Given the description of an element on the screen output the (x, y) to click on. 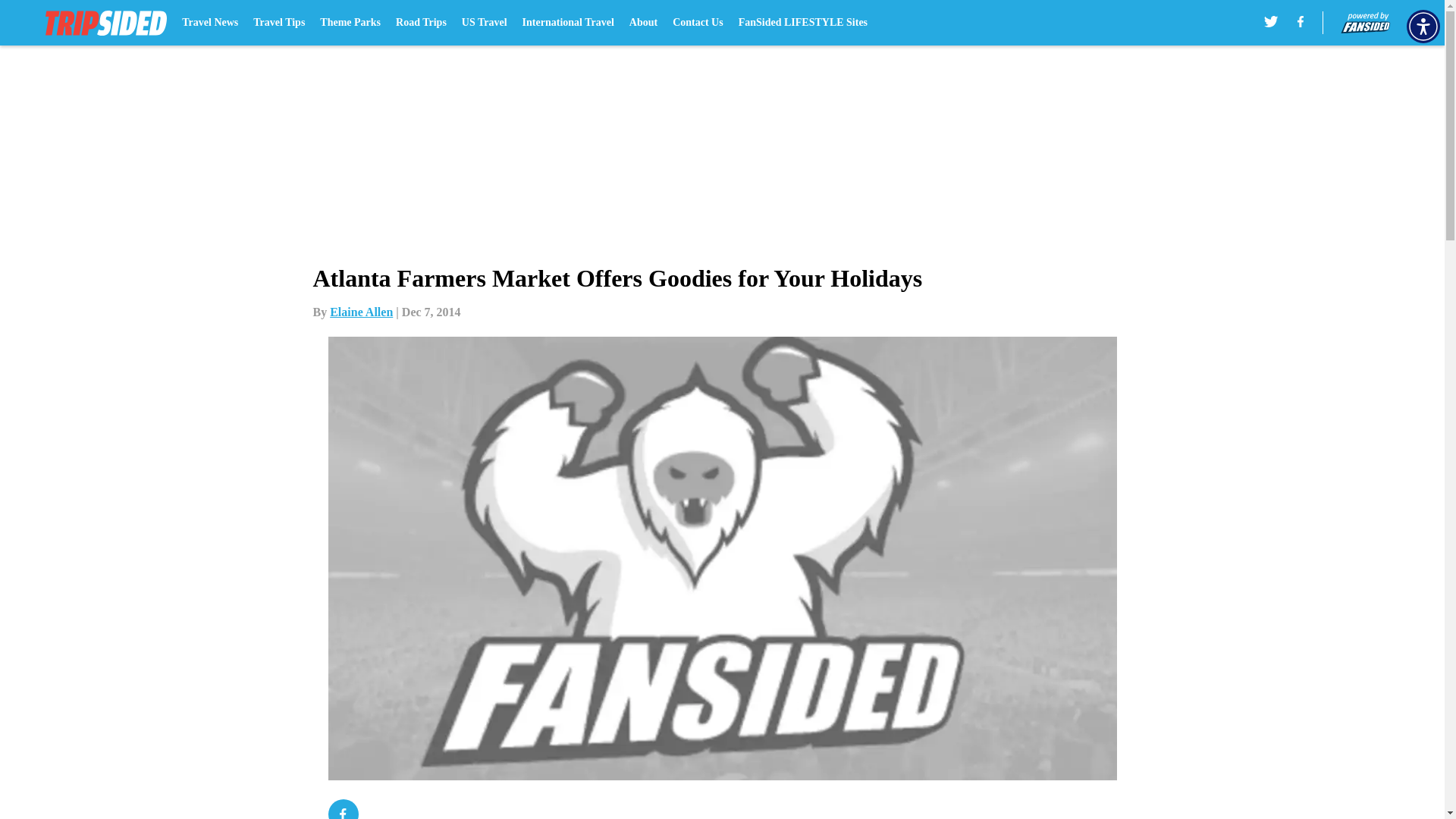
Accessibility Menu (1422, 26)
US Travel (483, 22)
International Travel (568, 22)
Elaine Allen (361, 311)
About (643, 22)
Contact Us (697, 22)
Travel Tips (278, 22)
Road Trips (421, 22)
Travel News (210, 22)
Theme Parks (350, 22)
FanSided LIFESTYLE Sites (802, 22)
